Given the description of an element on the screen output the (x, y) to click on. 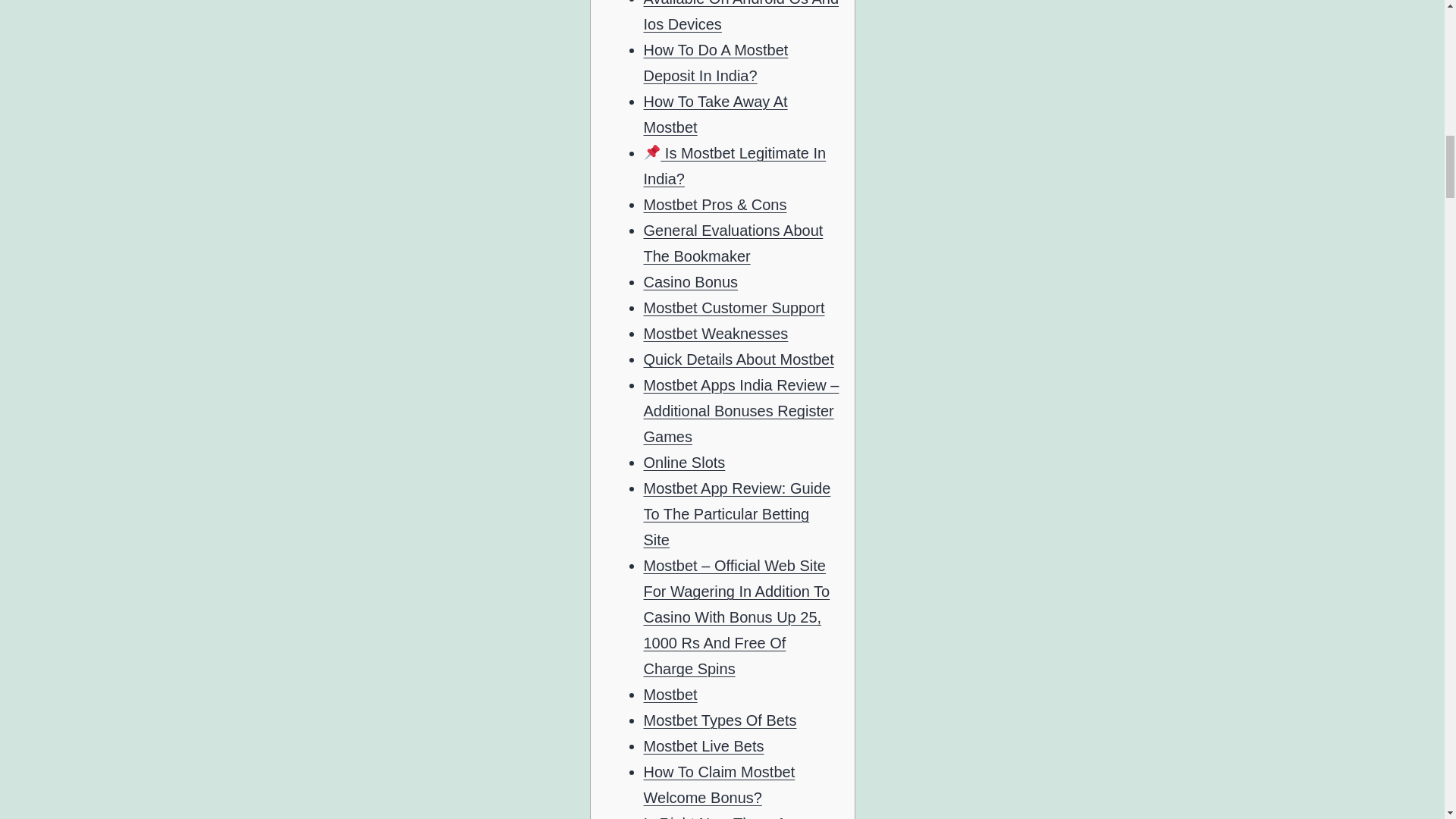
How To Claim Mostbet Welcome Bonus? (718, 784)
Mostbet (670, 694)
Mostbet Live Bets (702, 745)
Mostbet Customer Support (733, 307)
Is Right Now There A Mostbet Mobile App? (714, 816)
Casino Bonus (690, 281)
How To Take Away At Mostbet (715, 114)
General Evaluations About The Bookmaker (732, 242)
Quick Details About Mostbet (737, 359)
Available On Android Os And Ios Devices (740, 16)
Mostbet Types Of Bets (719, 719)
Is Mostbet Legitimate In India? (734, 165)
Mostbet App Review: Guide To The Particular Betting Site (736, 513)
How To Do A Mostbet Deposit In India? (715, 62)
Mostbet Weaknesses (715, 333)
